Given the description of an element on the screen output the (x, y) to click on. 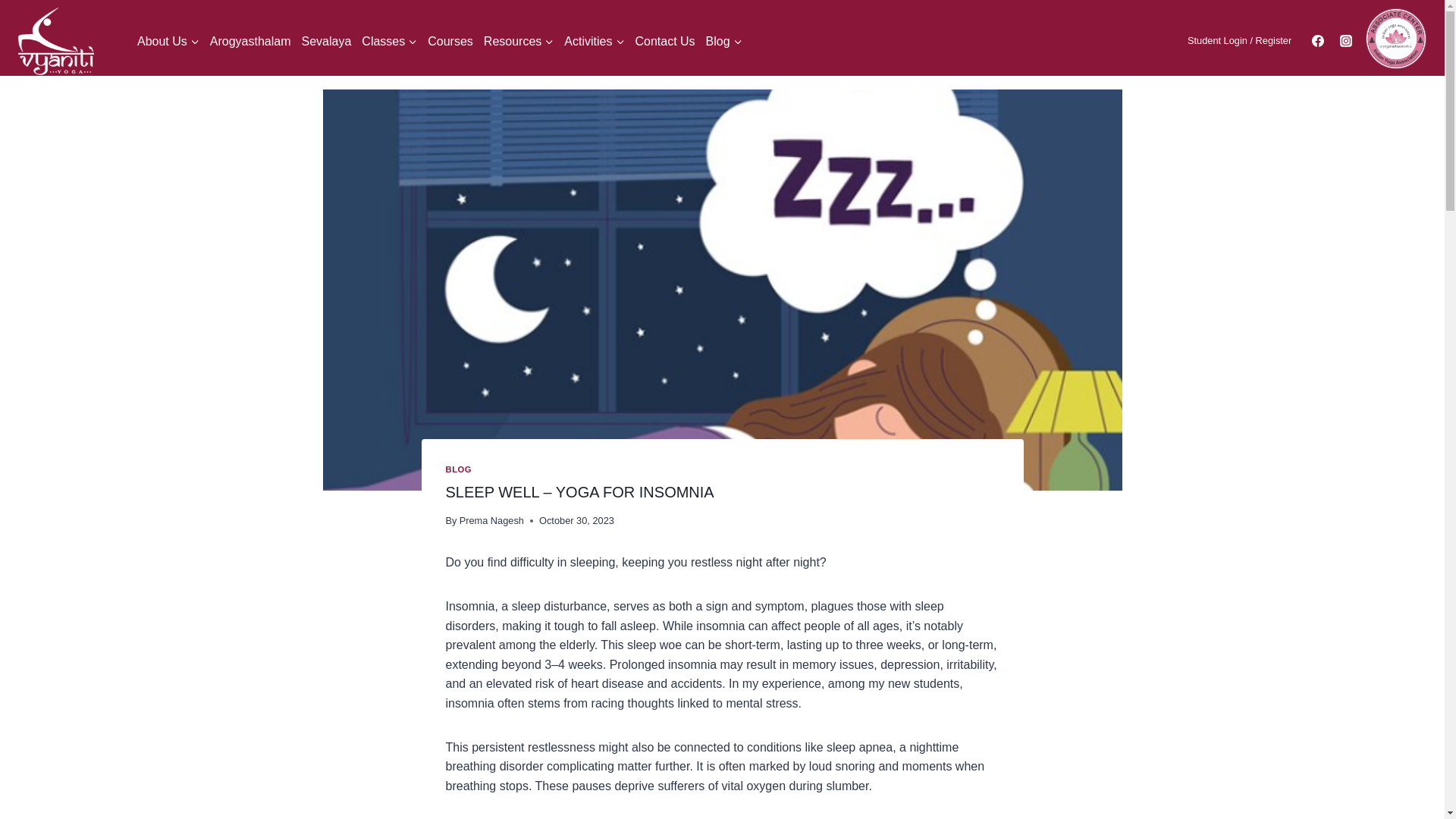
Courses (450, 41)
Prema Nagesh (492, 520)
Classes (389, 41)
Sevalaya (326, 41)
BLOG (458, 469)
Arogyasthalam (251, 41)
About Us (168, 41)
Blog (724, 41)
Contact Us (664, 41)
Resources (519, 41)
